Given the description of an element on the screen output the (x, y) to click on. 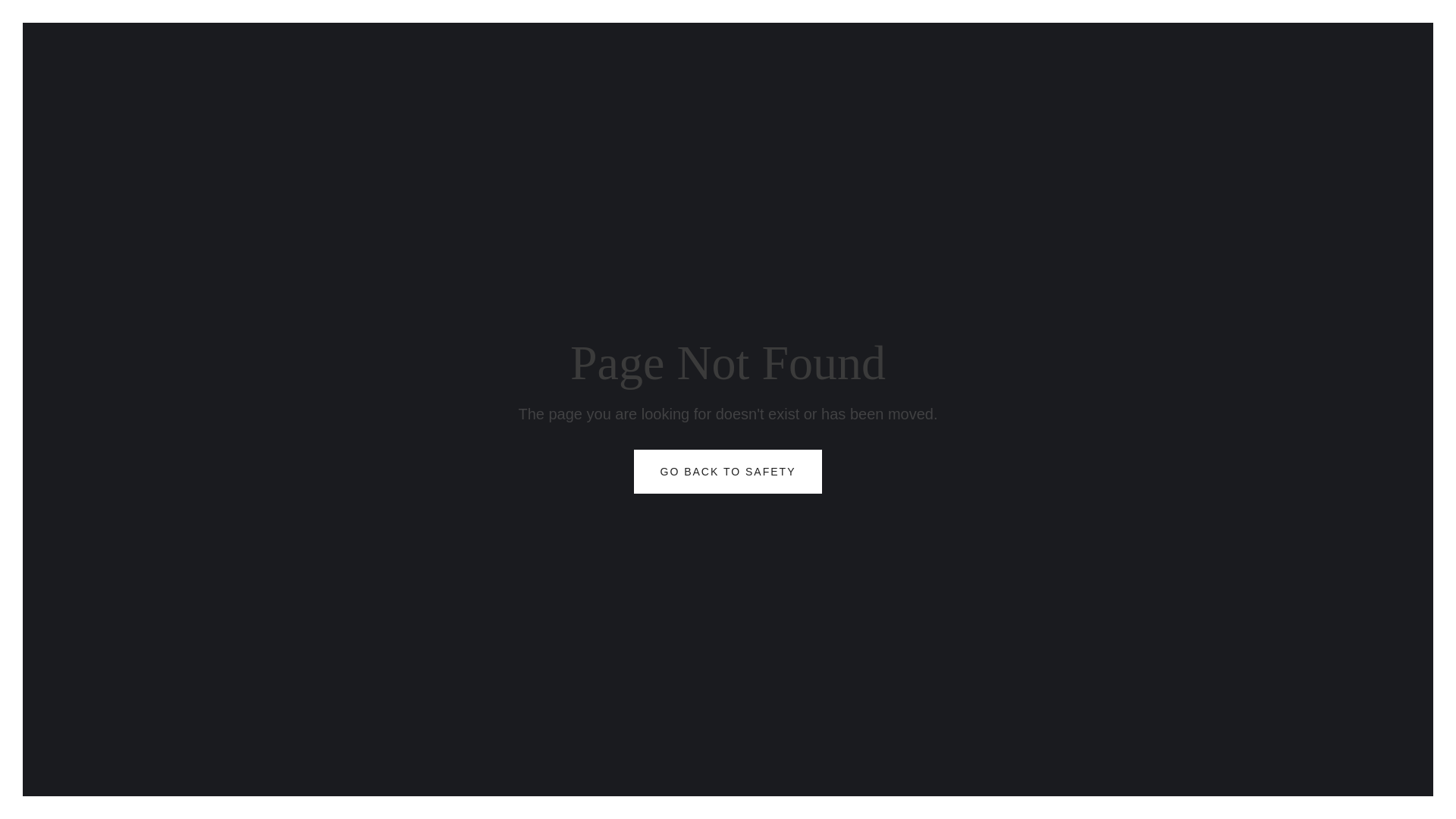
GO BACK TO SAFETY Element type: text (727, 471)
